Given the description of an element on the screen output the (x, y) to click on. 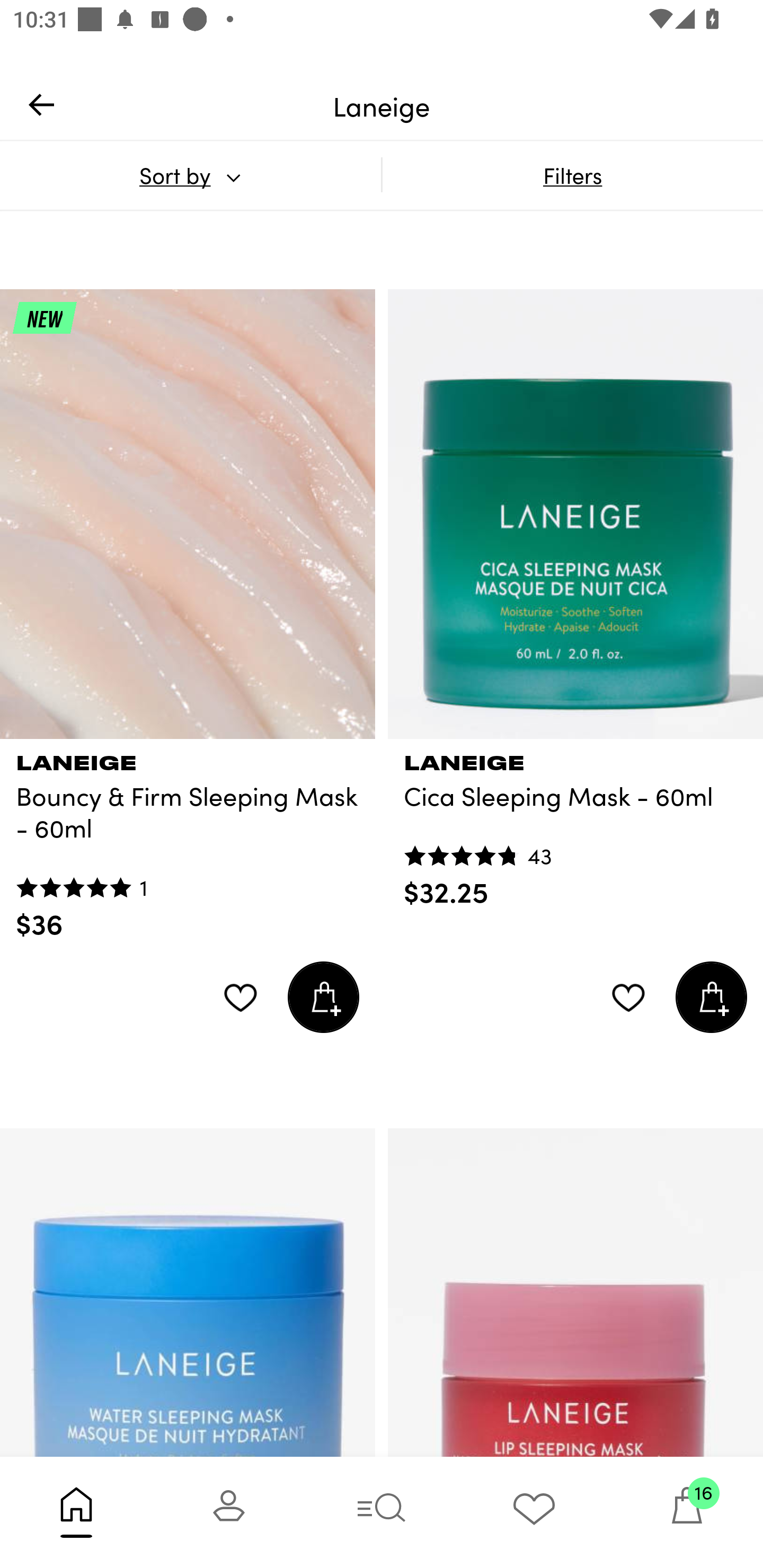
Sort by (190, 174)
Filters (572, 174)
LANEIGE Bouncy & Firm Sleeping Mask - 60ml 1 $36 (187, 840)
LANEIGE Cica Sleeping Mask - 60ml 43 $32.25 (575, 824)
16 (686, 1512)
